Given the description of an element on the screen output the (x, y) to click on. 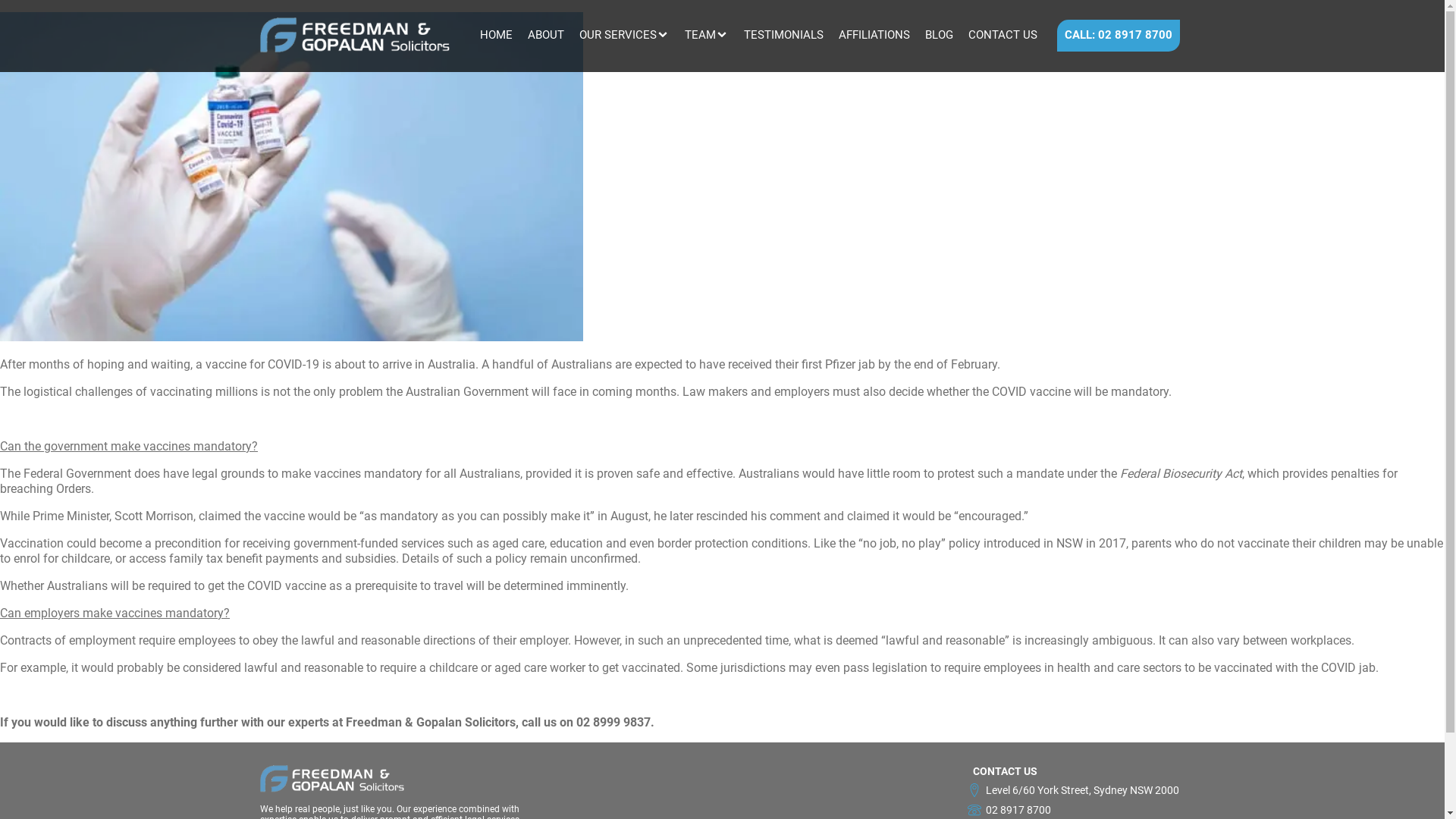
OUR SERVICES Element type: text (617, 35)
HOME Element type: text (495, 35)
ABOUT Element type: text (545, 35)
CALL: 02 8917 8700 Element type: text (1118, 35)
CONTACT US Element type: text (1002, 35)
AFFILIATIONS Element type: text (874, 35)
BLOG Element type: text (938, 35)
TESTIMONIALS Element type: text (782, 35)
TEAM Element type: text (699, 35)
